Given the description of an element on the screen output the (x, y) to click on. 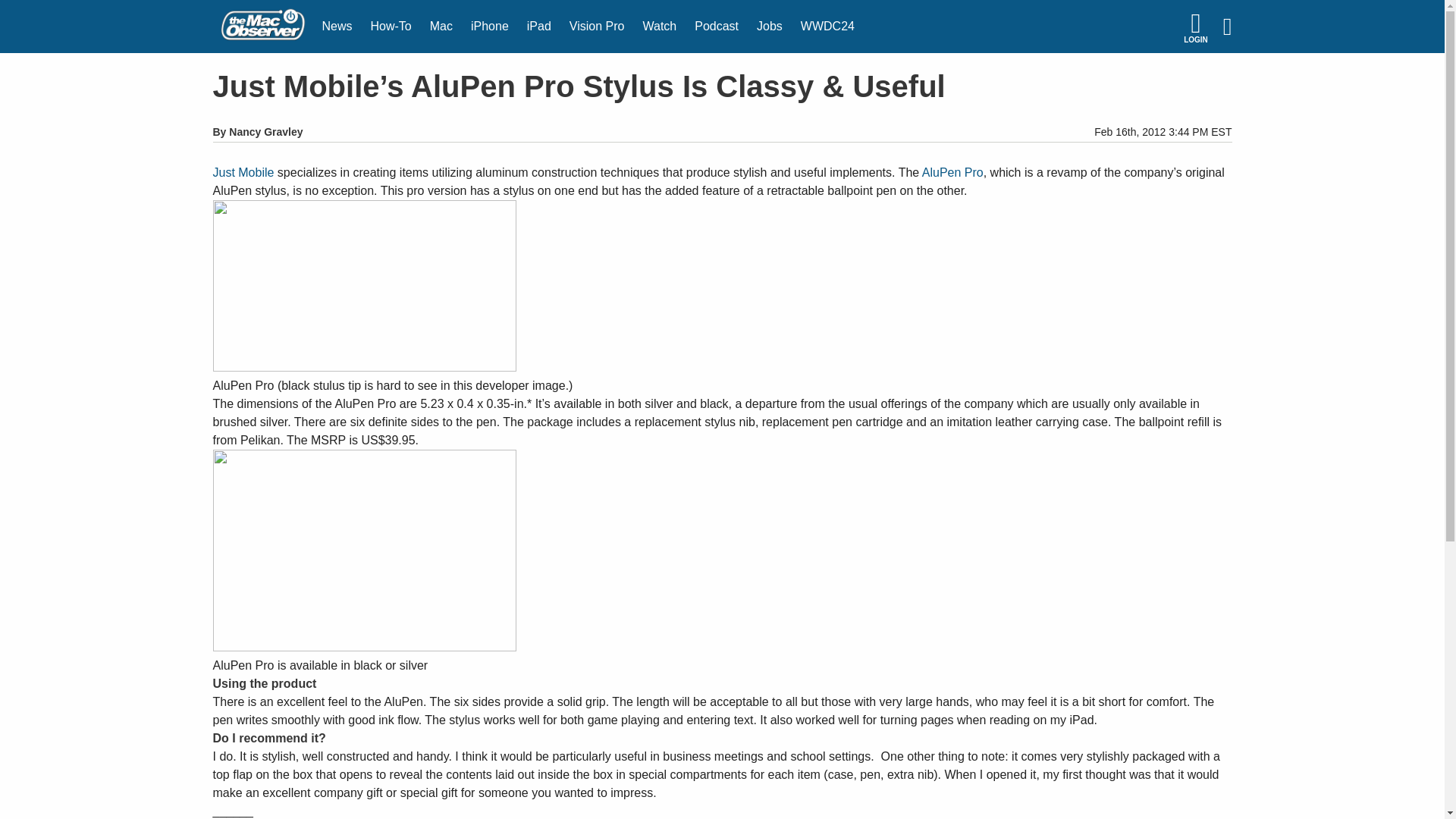
iPhone (489, 26)
AluPen Pro (952, 172)
How-To (390, 26)
News (337, 26)
WWDC24 (827, 26)
Vision Pro (596, 26)
Podcast (716, 26)
News (337, 26)
The Mac Observer (262, 26)
Vision Pro (596, 26)
Just Mobile (242, 172)
Podcast (716, 26)
Watch (659, 26)
iPhone (489, 26)
WWDC24 (827, 26)
